Given the description of an element on the screen output the (x, y) to click on. 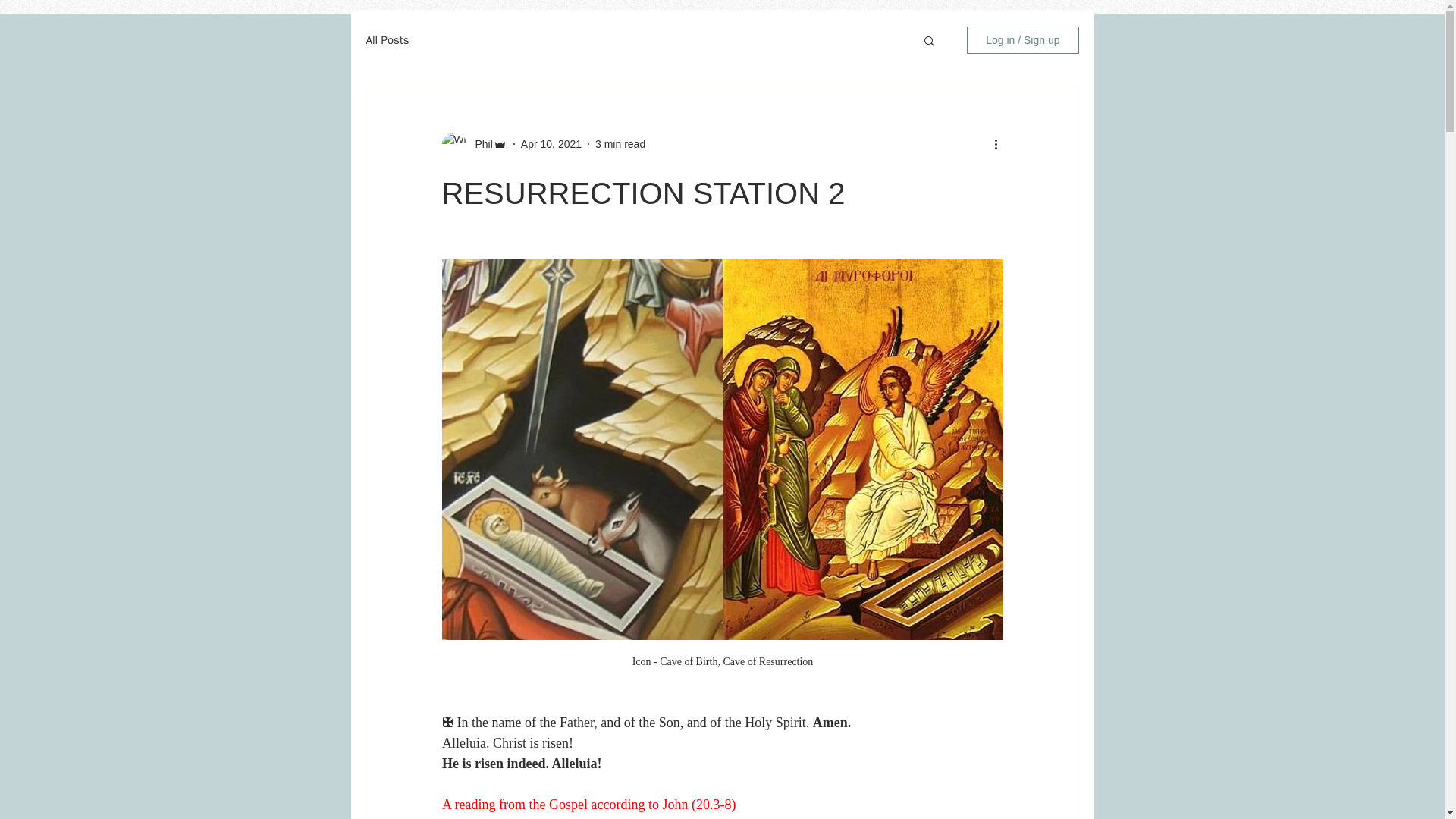
All Posts (387, 40)
3 min read (620, 143)
Apr 10, 2021 (550, 143)
Phil (478, 144)
